Given the description of an element on the screen output the (x, y) to click on. 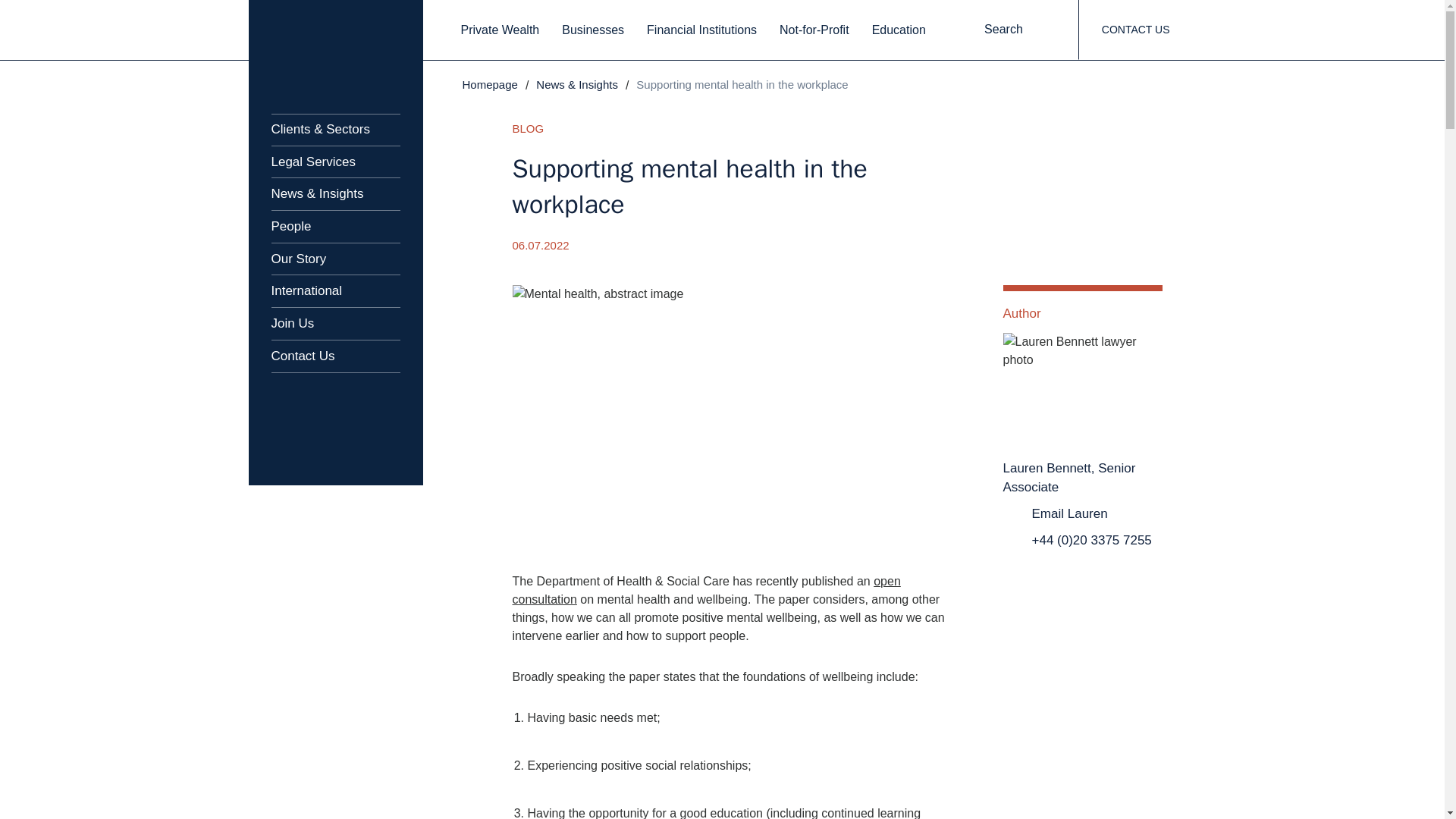
Search (1016, 29)
Education (899, 29)
Private Wealth (500, 29)
CONTACT US (1135, 29)
Financial Institutions (701, 29)
Businesses (593, 29)
Not-for-Profit (813, 29)
